Given the description of an element on the screen output the (x, y) to click on. 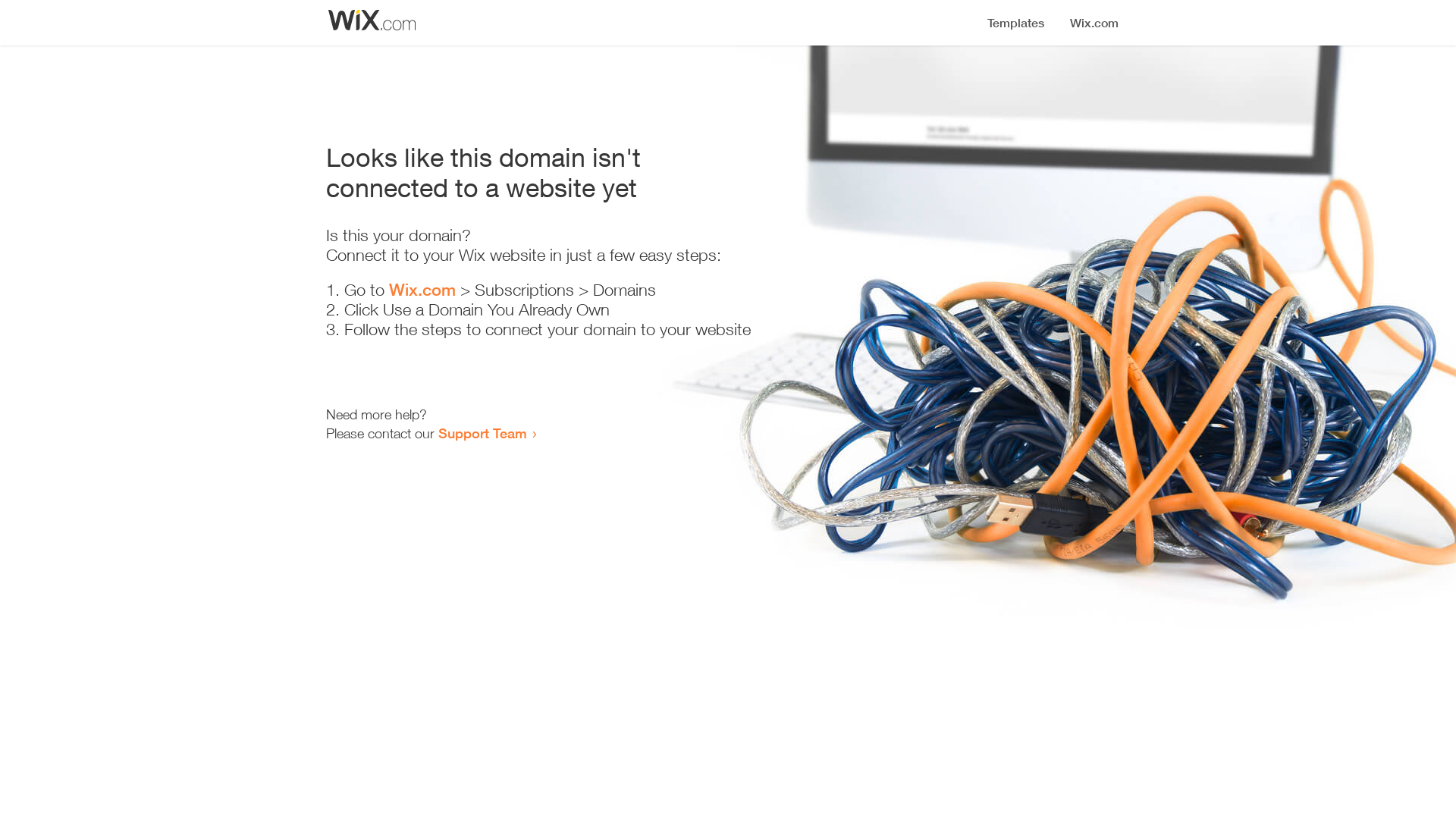
Wix.com Element type: text (422, 289)
Support Team Element type: text (482, 432)
